Given the description of an element on the screen output the (x, y) to click on. 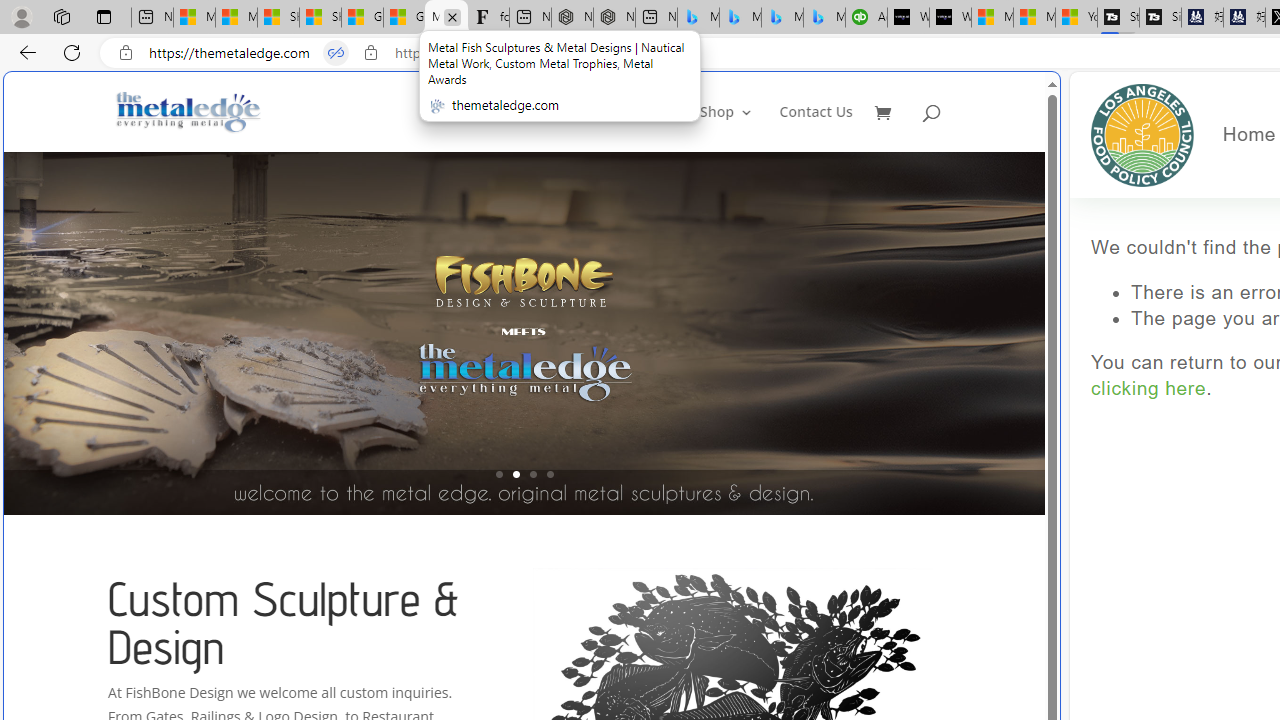
Personal Profile (21, 16)
View site information (370, 53)
Los Angeles Food Policy Council (1142, 134)
Metal Fish Sculptures & Metal Designs (189, 111)
Contact Us (815, 128)
Tabs in split screen (335, 53)
Shop 3 (726, 128)
Shanghai, China weather forecast | Microsoft Weather (319, 17)
1 (499, 474)
Accounting Software for Accountants, CPAs and Bookkeepers (866, 17)
Close tab (452, 16)
